Given the description of an element on the screen output the (x, y) to click on. 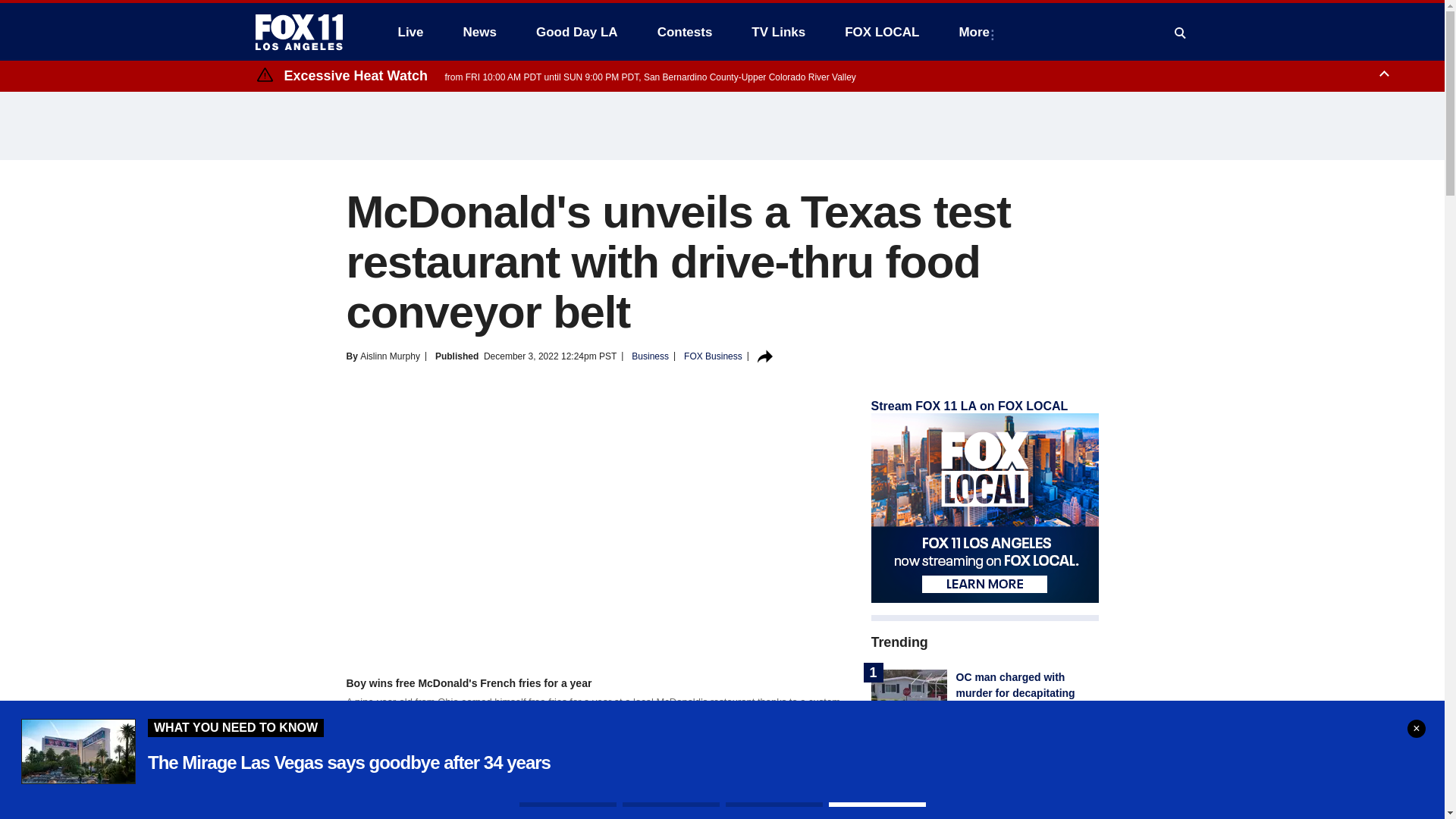
News (479, 32)
FOX LOCAL (881, 32)
Live (410, 32)
TV Links (777, 32)
More (976, 32)
Contests (685, 32)
Good Day LA (577, 32)
